Given the description of an element on the screen output the (x, y) to click on. 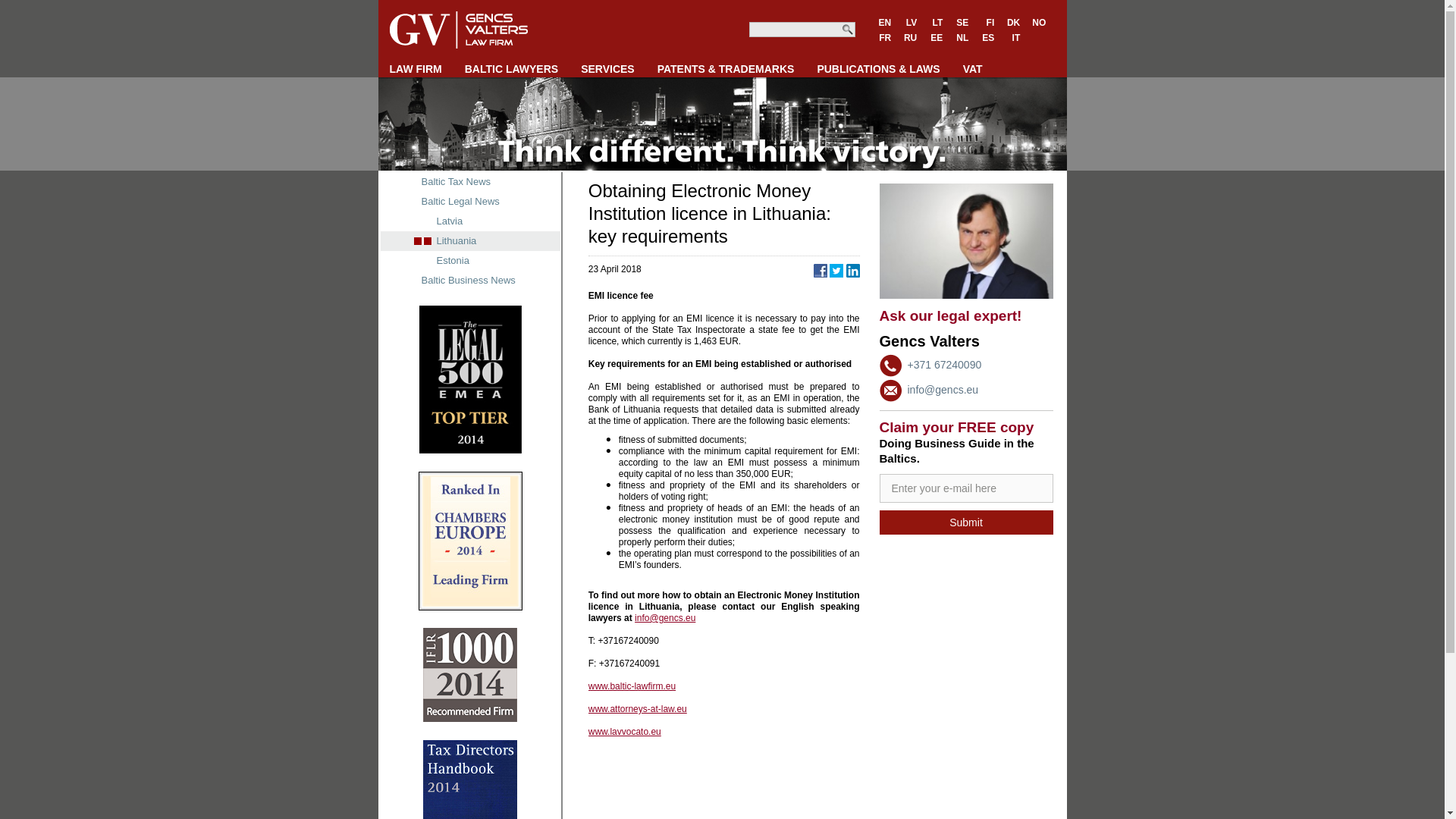
DK (1013, 22)
Submit (965, 522)
BALTIC LAWYERS (511, 68)
SERVICES (607, 68)
RU (909, 37)
LAW FIRM (415, 68)
NO (1038, 22)
title (965, 488)
EN (884, 22)
